Given the description of an element on the screen output the (x, y) to click on. 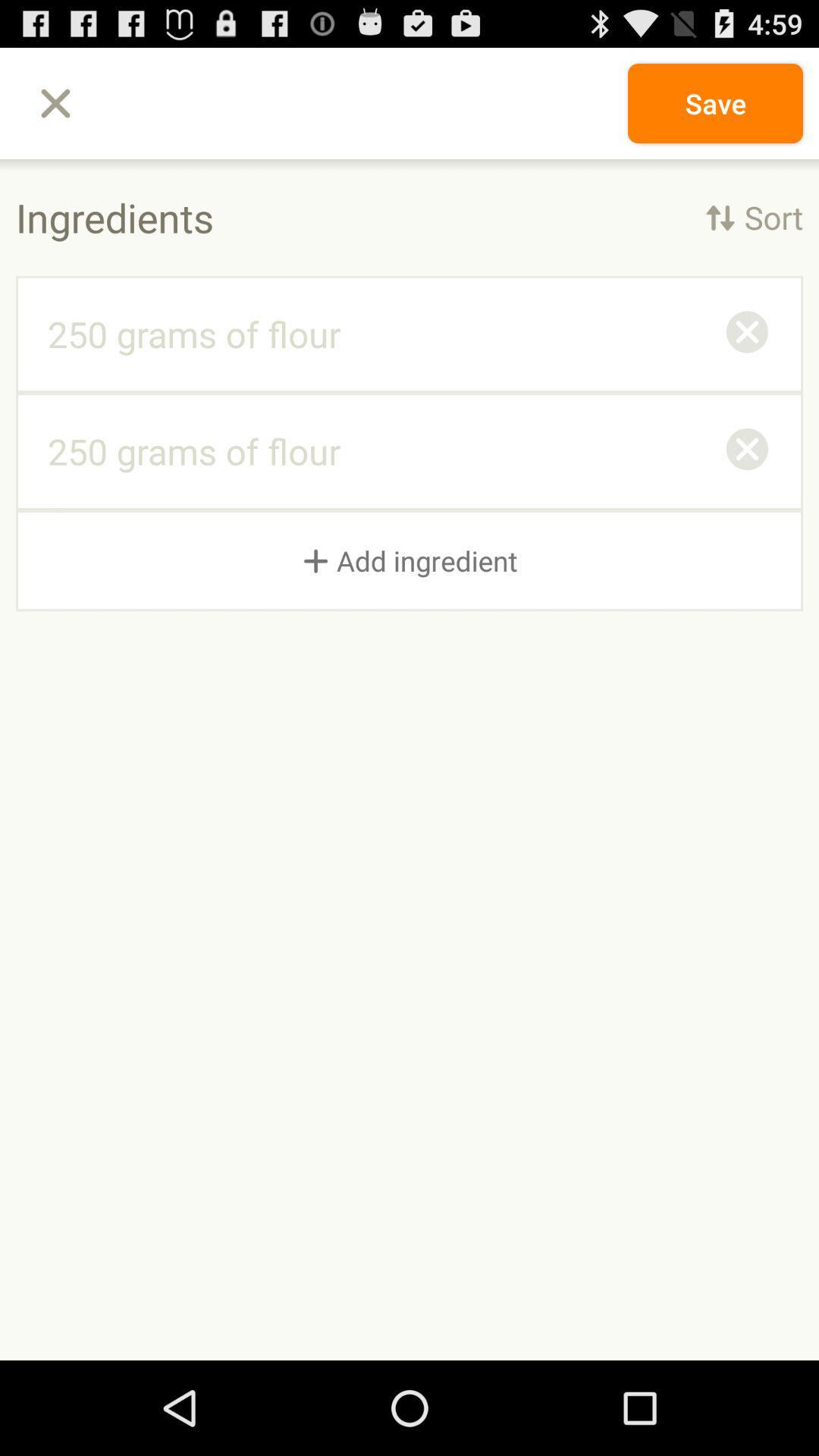
turn off item to the left of save item (55, 103)
